Given the description of an element on the screen output the (x, y) to click on. 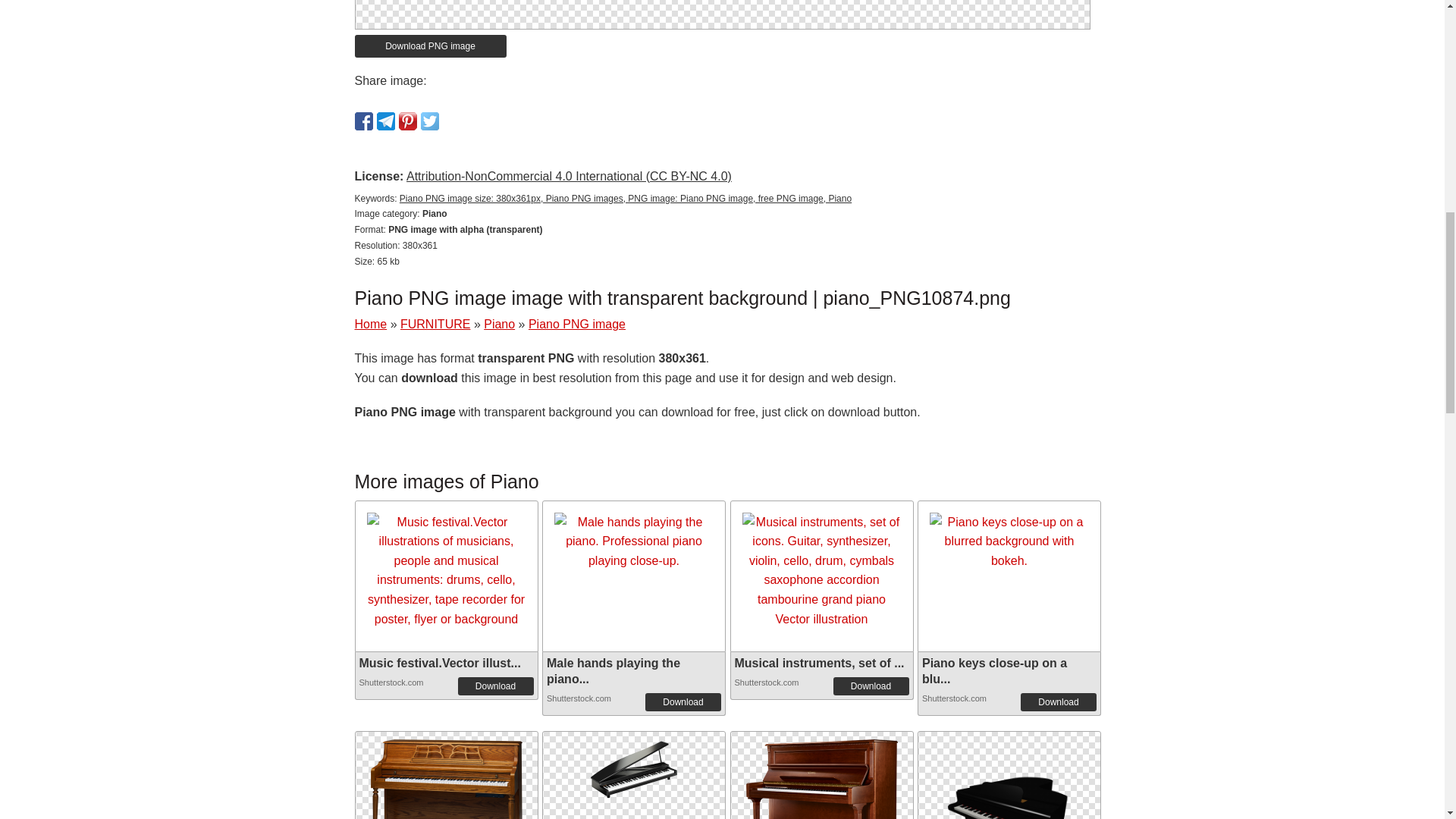
Music festival.Vector illust... (440, 662)
Piano PNG image (633, 766)
Piano PNG image (445, 775)
Share in Facebook (363, 121)
Piano keys close-up on a blu... (994, 670)
Tweet (429, 121)
Piano PNG image (821, 802)
Piano PNG image (633, 765)
Download (1058, 701)
Piano keys close-up on a blurred background with bokeh. (1009, 541)
Download (496, 686)
Download PNG image (430, 46)
Download (682, 701)
Piano PNG image (577, 323)
